Given the description of an element on the screen output the (x, y) to click on. 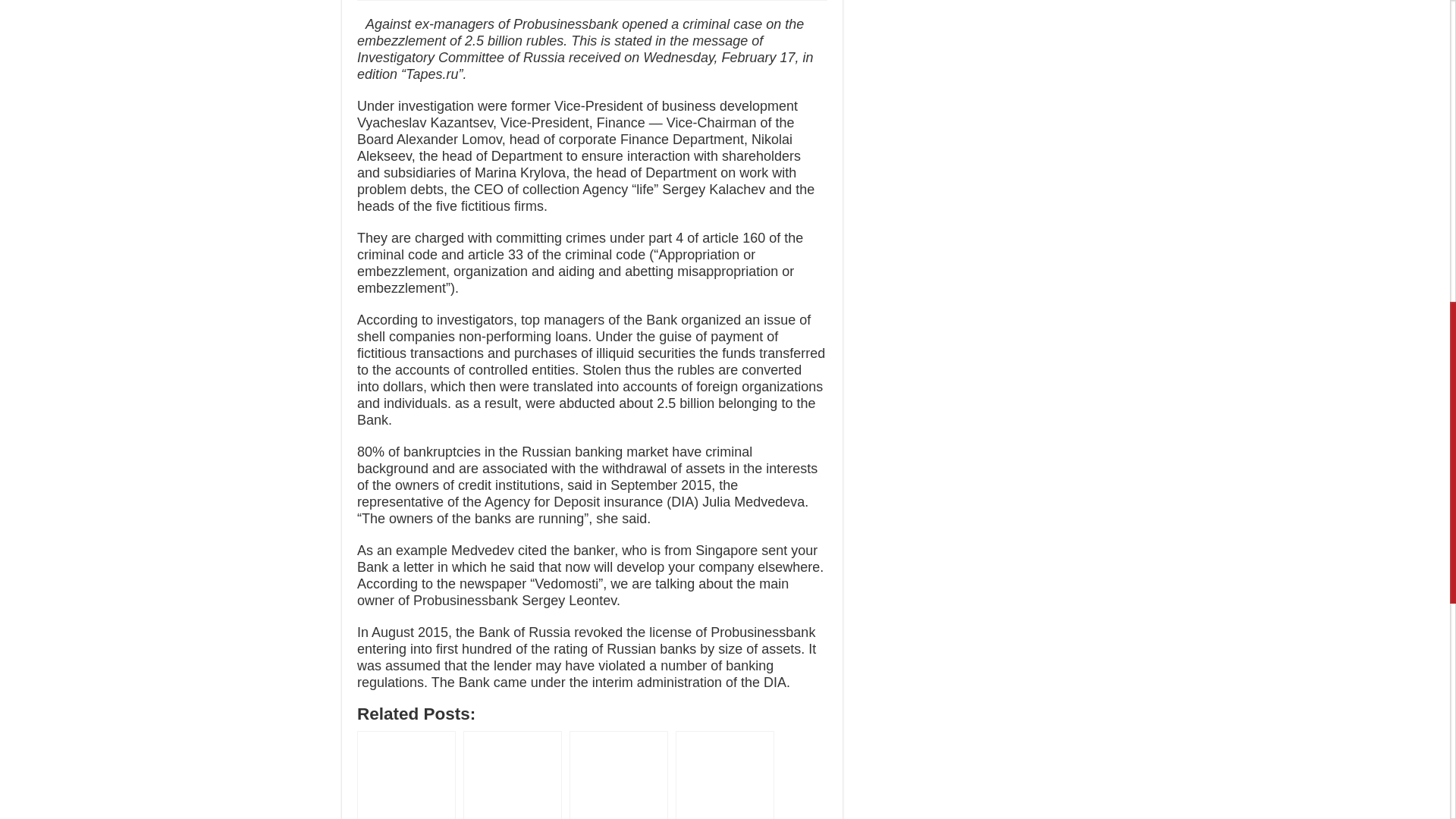
What threatens anti-terror bill Spring? (405, 775)
Scroll To Top (1427, 60)
What threatens anti-terror bill Spring? (405, 775)
